Given the description of an element on the screen output the (x, y) to click on. 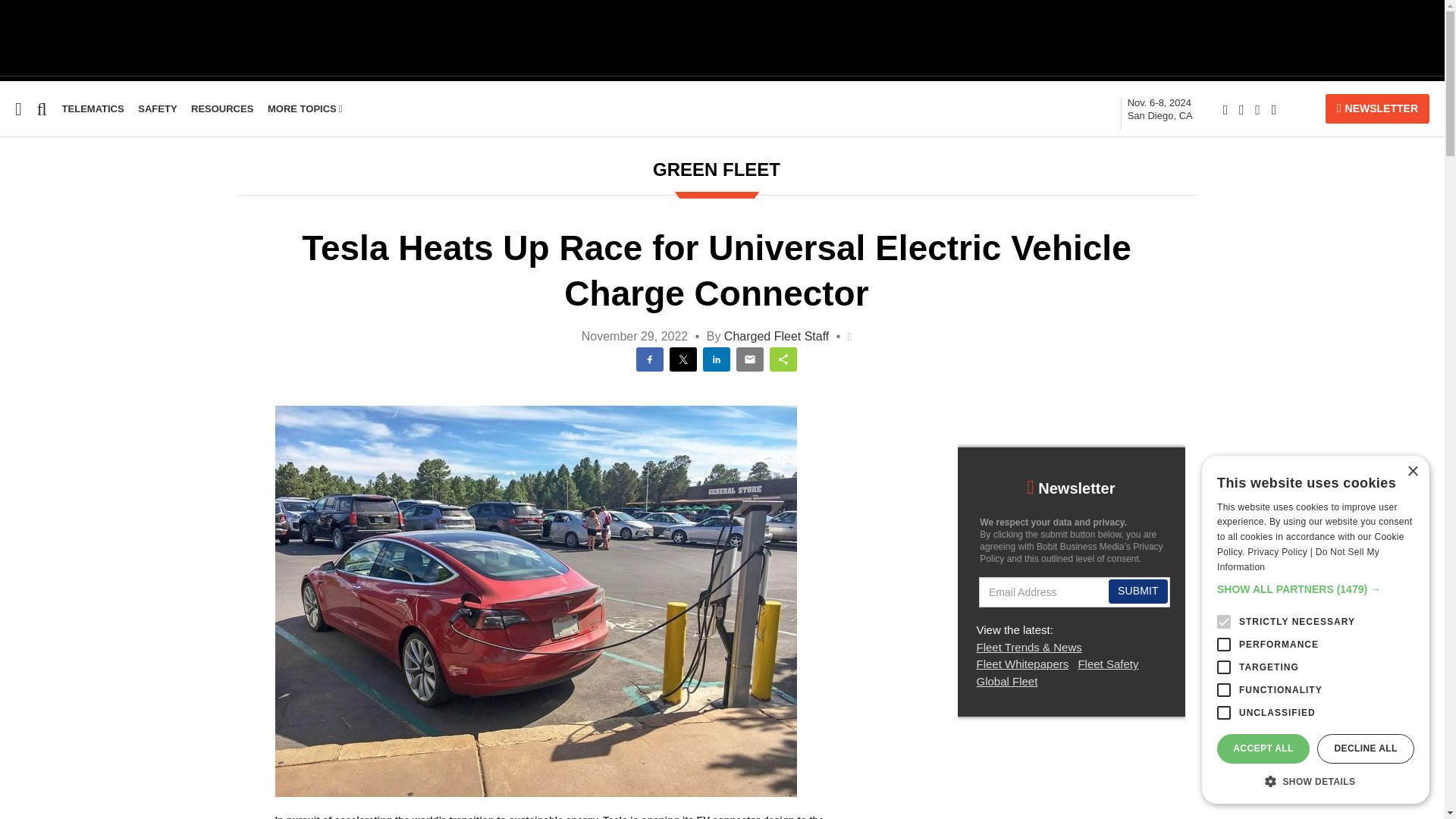
Safety (17, 236)
RESOURCES (221, 108)
Home (16, 206)
Global Fleet (34, 293)
SAFETY (157, 108)
Safety (1159, 109)
Fuel (17, 236)
Global Fleet (11, 264)
Safety (34, 293)
Telematics (157, 108)
TELEMATICS (92, 108)
Home (92, 108)
Nov. 6-8, 2024 (16, 206)
Fuel (1159, 109)
